Given the description of an element on the screen output the (x, y) to click on. 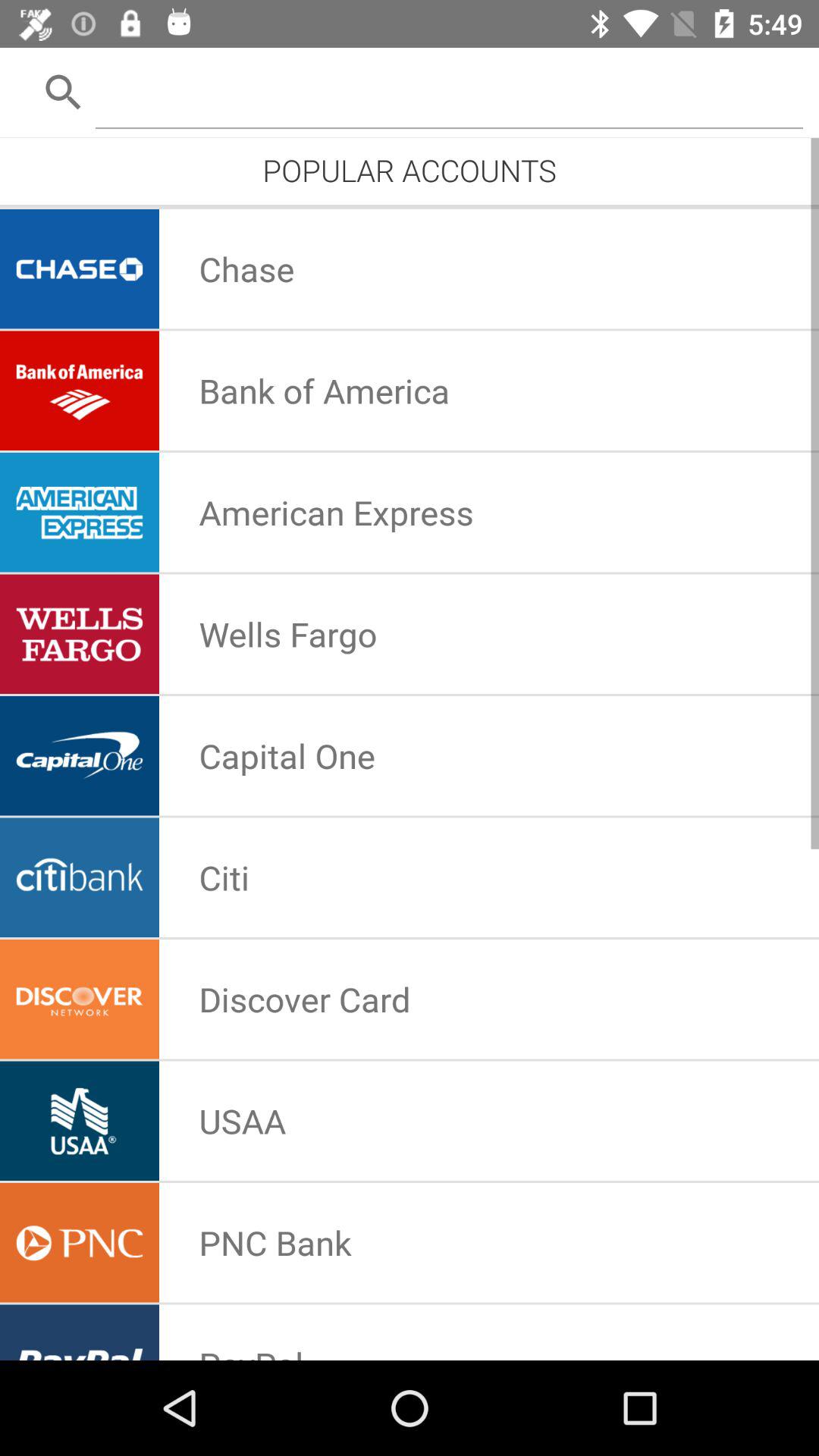
turn off the item below the american express item (288, 633)
